Given the description of an element on the screen output the (x, y) to click on. 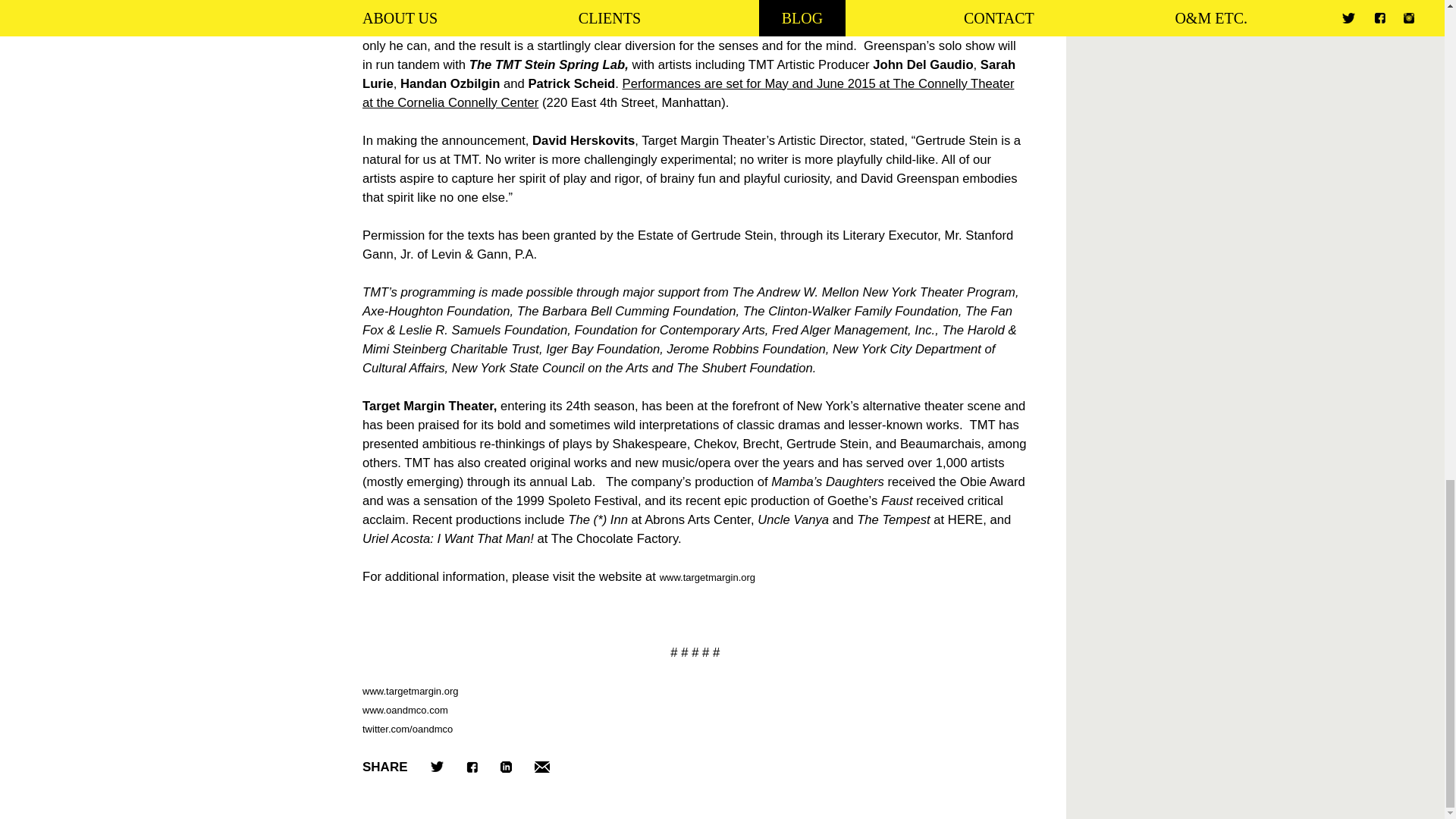
Email (542, 767)
LinkedIn (506, 767)
Twitter (437, 766)
Facebook (471, 767)
